Given the description of an element on the screen output the (x, y) to click on. 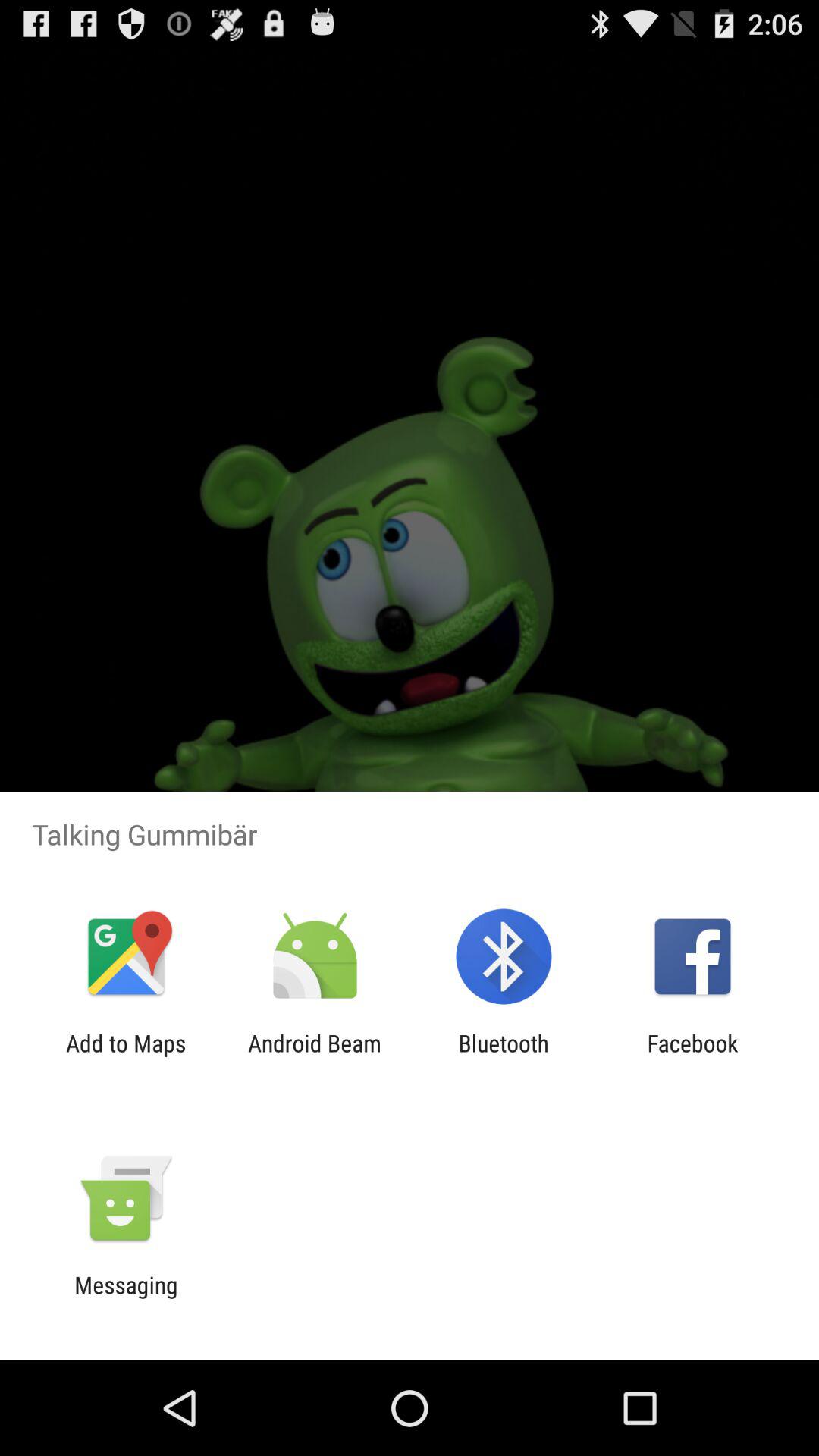
turn on item next to add to maps app (314, 1056)
